Given the description of an element on the screen output the (x, y) to click on. 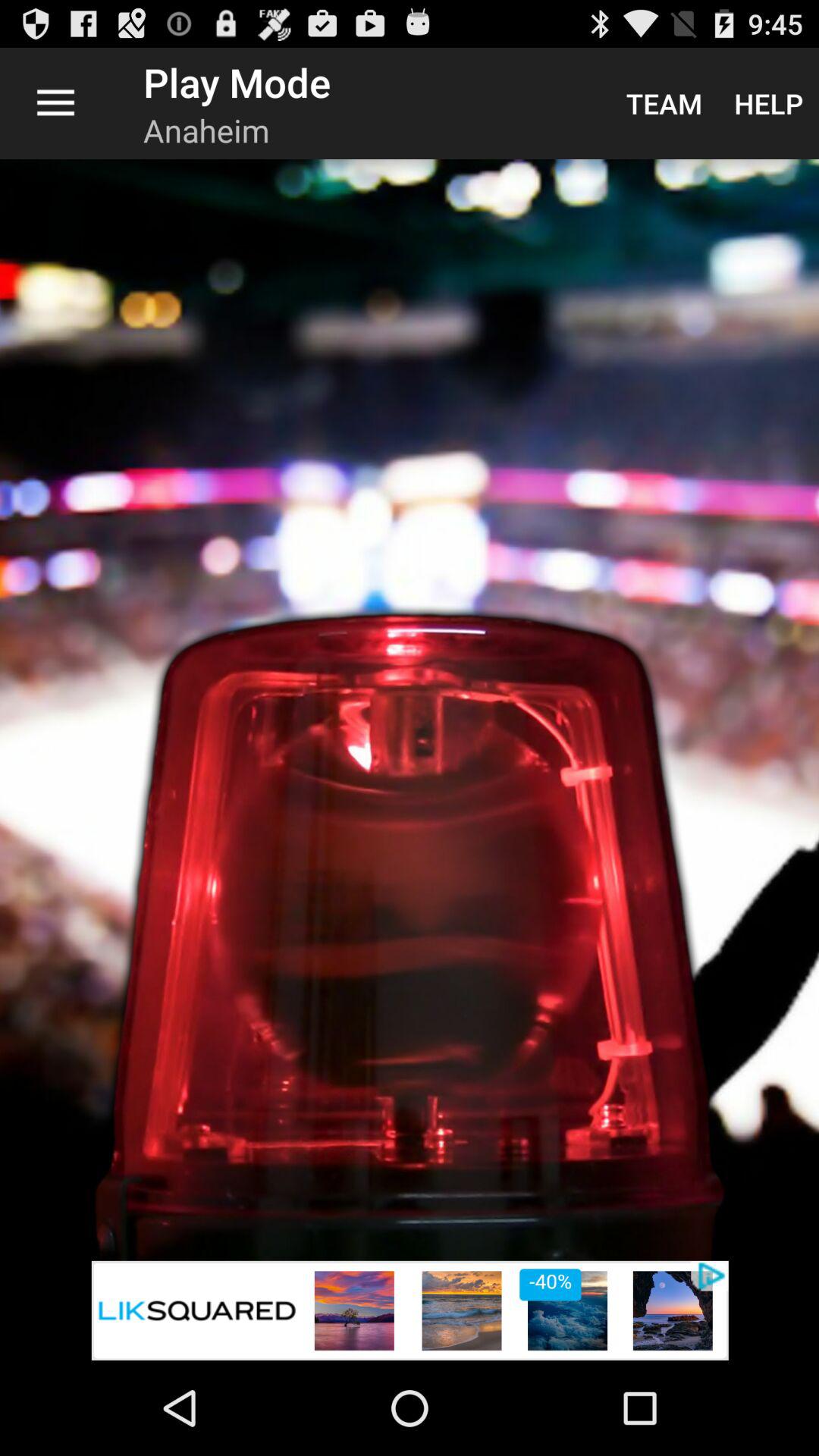
click item next to play mode icon (664, 103)
